Given the description of an element on the screen output the (x, y) to click on. 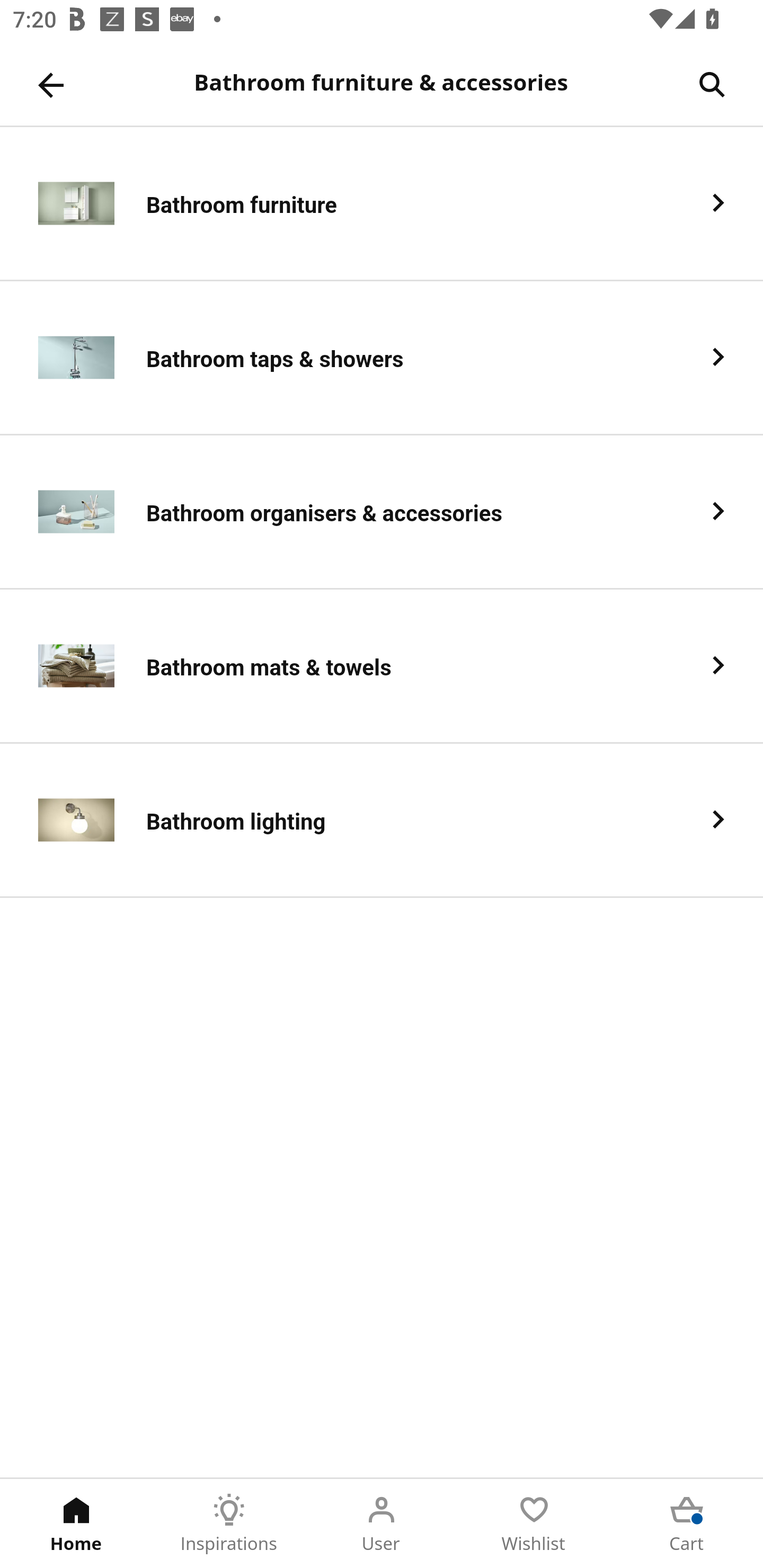
Bathroom furniture (381, 203)
Bathroom taps & showers (381, 357)
Bathroom organisers & accessories (381, 512)
Bathroom mats & towels (381, 666)
Bathroom lighting (381, 820)
Home
Tab 1 of 5 (76, 1522)
Inspirations
Tab 2 of 5 (228, 1522)
User
Tab 3 of 5 (381, 1522)
Wishlist
Tab 4 of 5 (533, 1522)
Cart
Tab 5 of 5 (686, 1522)
